Given the description of an element on the screen output the (x, y) to click on. 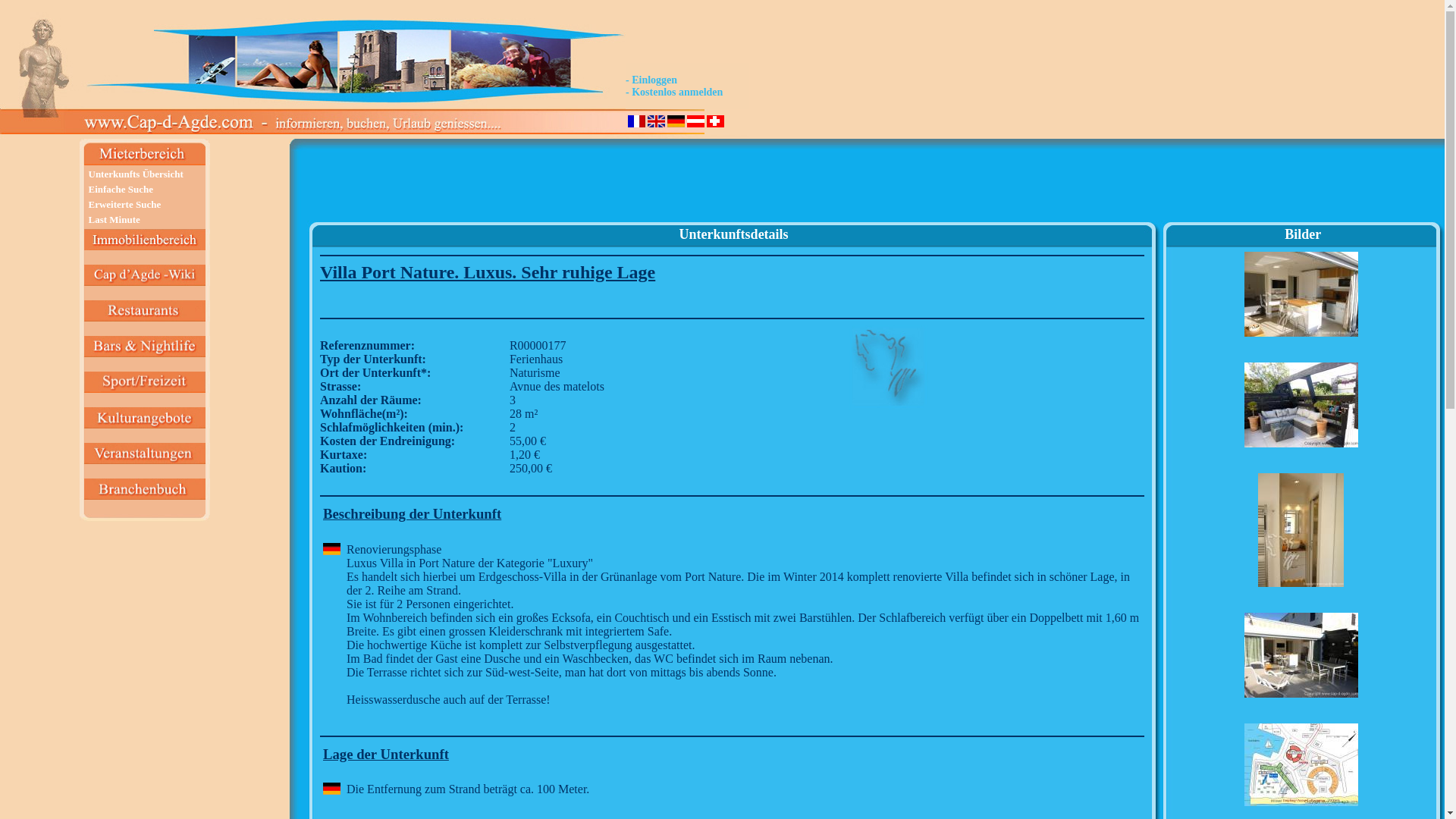
- Kostenlos anmelden Element type: text (673, 91)
- Einloggen Element type: text (651, 79)
Advertisement Element type: hover (733, 186)
Advertisement Element type: hover (1301, 186)
Last Minute Element type: text (113, 219)
Erweiterte Suche Element type: text (123, 204)
Einfache Suche Element type: text (120, 188)
